Given the description of an element on the screen output the (x, y) to click on. 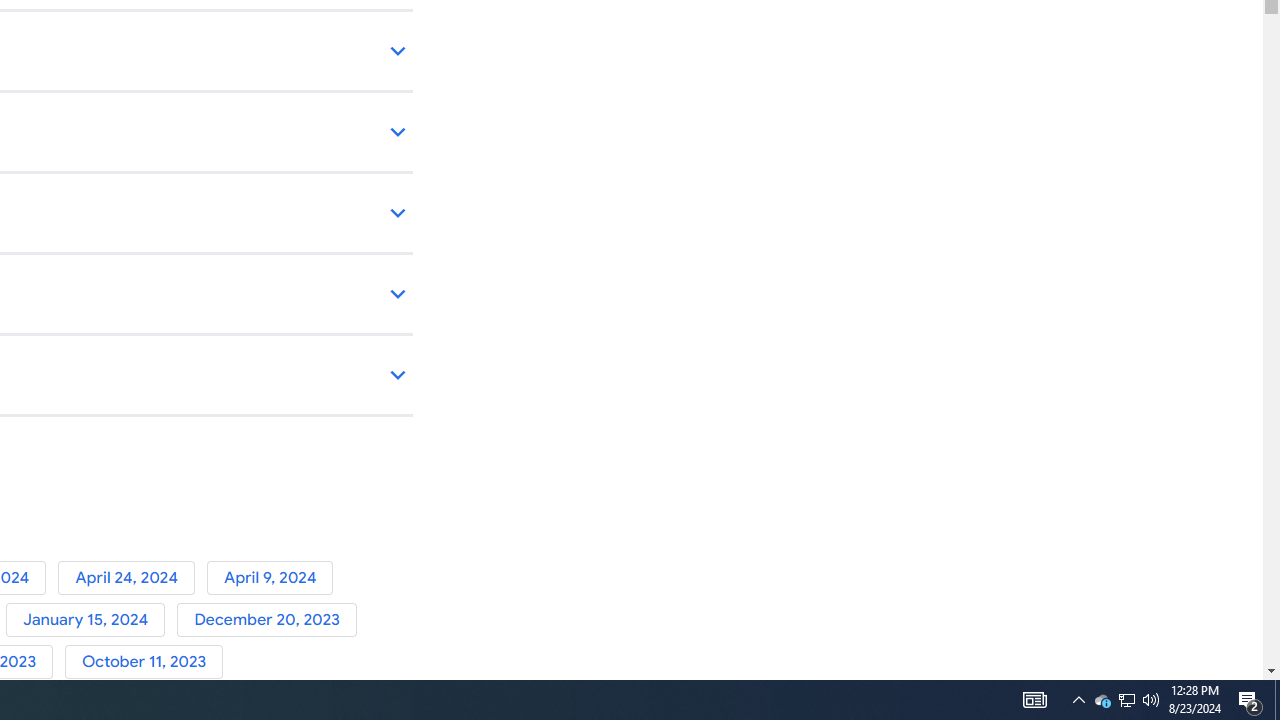
October 11, 2023 (147, 661)
April 24, 2024 (132, 577)
January 15, 2024 (91, 620)
December 20, 2023 (270, 620)
April 9, 2024 (273, 577)
